Given the description of an element on the screen output the (x, y) to click on. 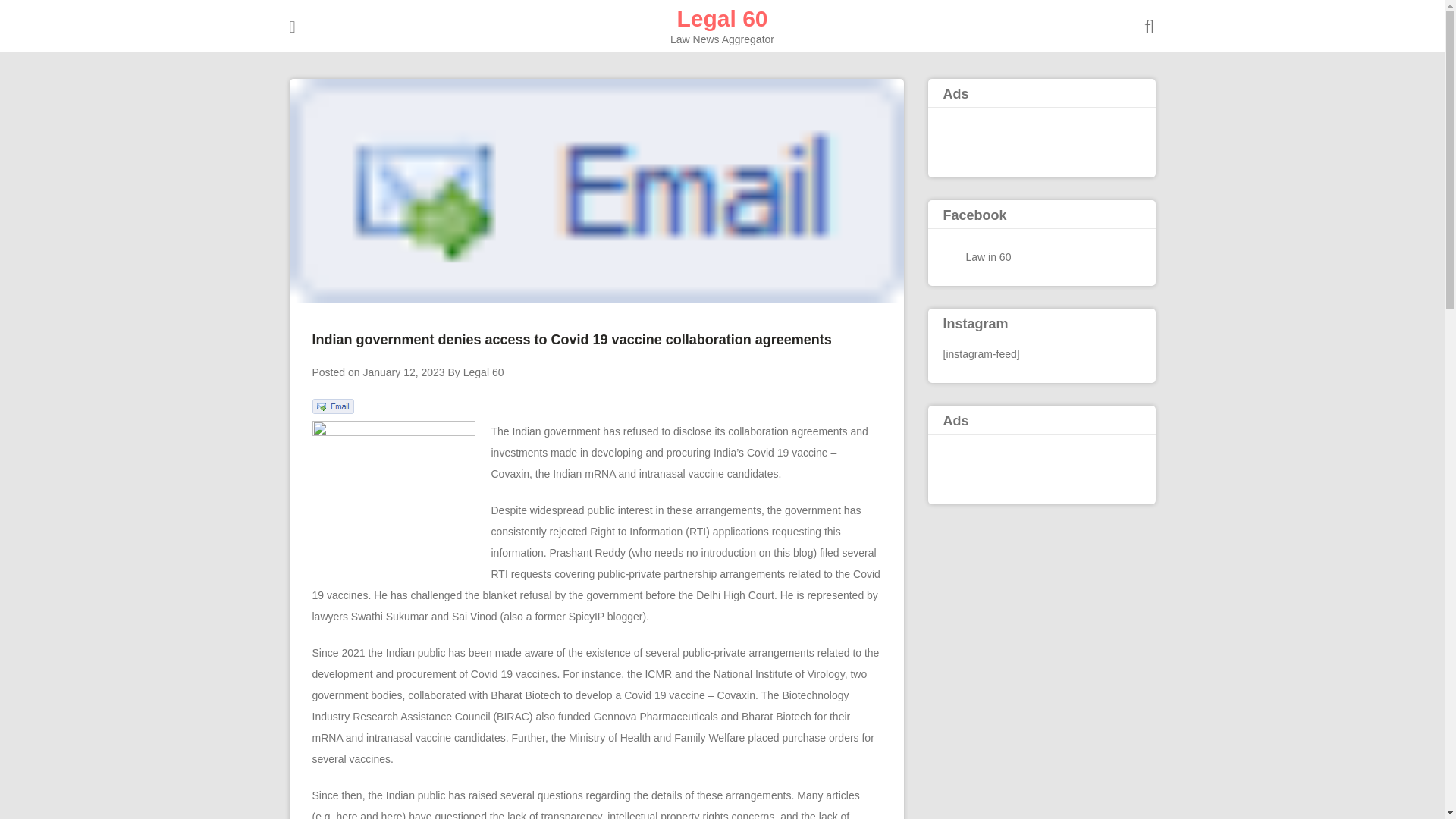
Send this article to a friend! (333, 410)
Law News Aggregator (722, 18)
Legal 60 (483, 372)
Legal 60 (722, 18)
Law in 60 (988, 256)
January 12, 2023 (403, 372)
Search (33, 12)
here (392, 814)
here (346, 814)
